Given the description of an element on the screen output the (x, y) to click on. 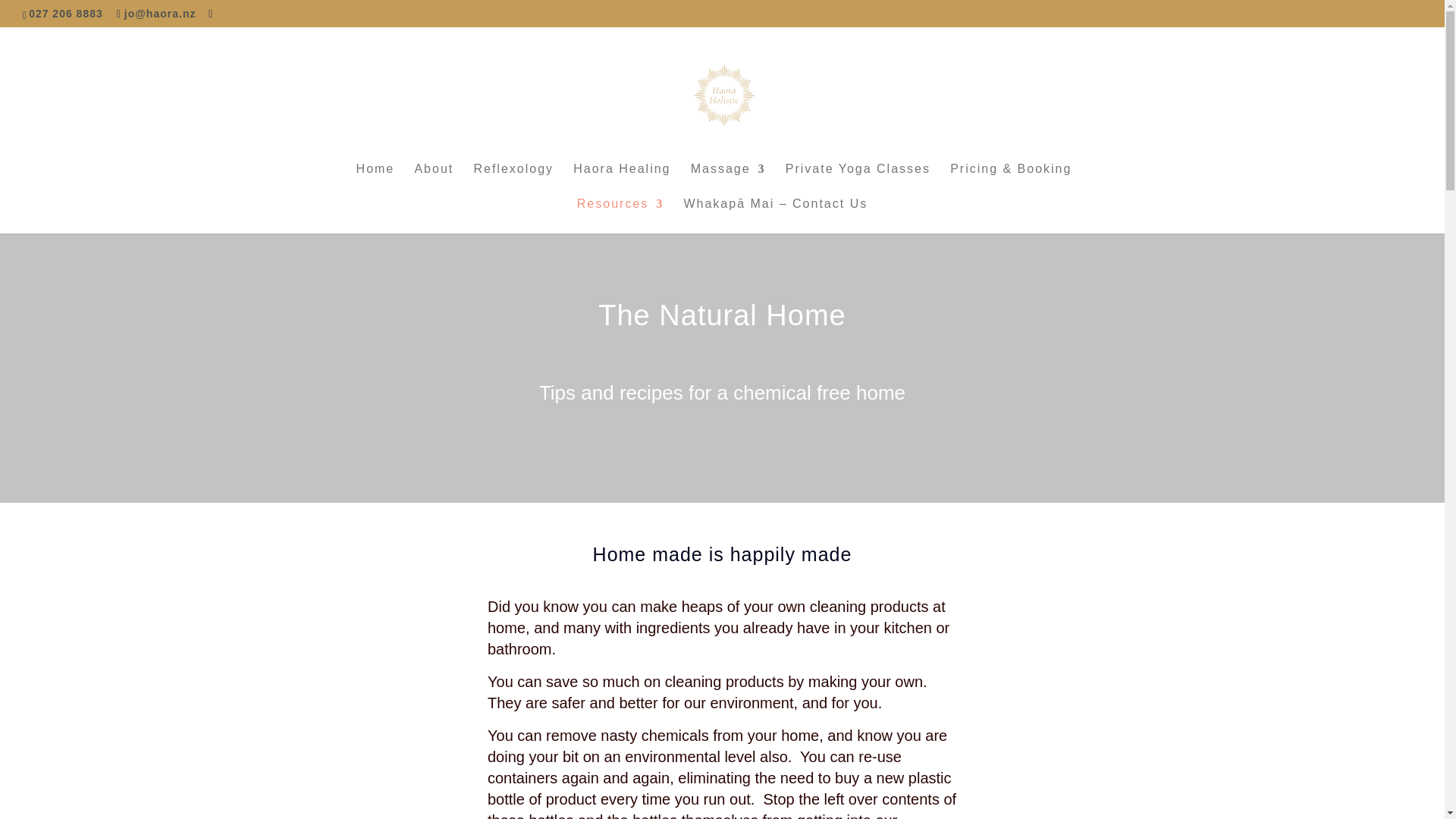
Reflexology (513, 181)
Private Yoga Classes (858, 181)
Massage (727, 181)
About (432, 181)
Haora Healing (621, 181)
Home (375, 181)
Resources (619, 216)
